Given the description of an element on the screen output the (x, y) to click on. 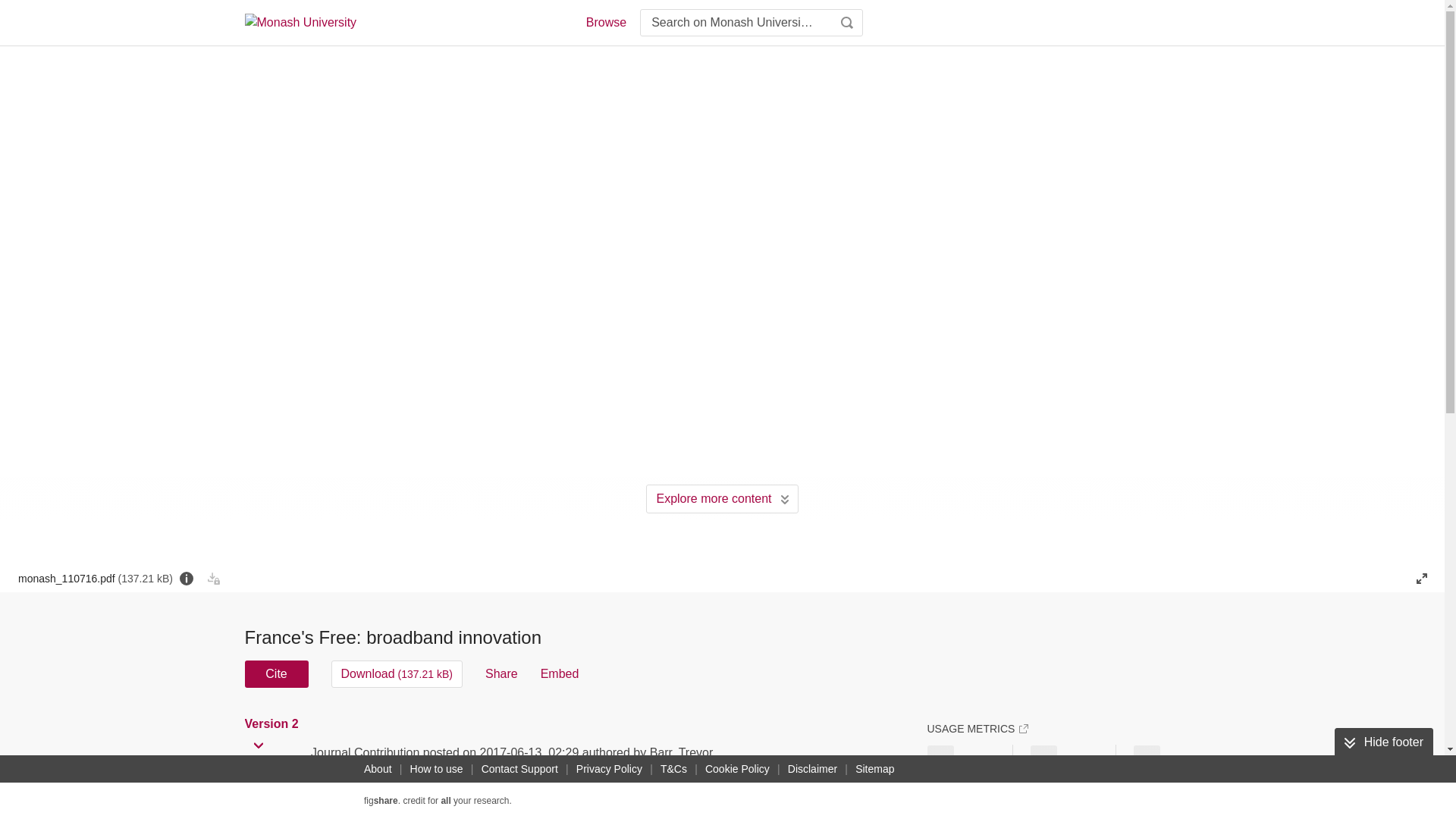
USAGE METRICS (976, 728)
Cookie Policy (737, 769)
How to use (436, 769)
Privacy Policy (609, 769)
Browse (605, 22)
Version 2 (273, 723)
Contact Support (519, 769)
Cite (275, 673)
Disclaimer (812, 769)
Explore more content (721, 498)
Embed (559, 673)
Share (501, 673)
About (377, 769)
Hide footer (1383, 742)
